Given the description of an element on the screen output the (x, y) to click on. 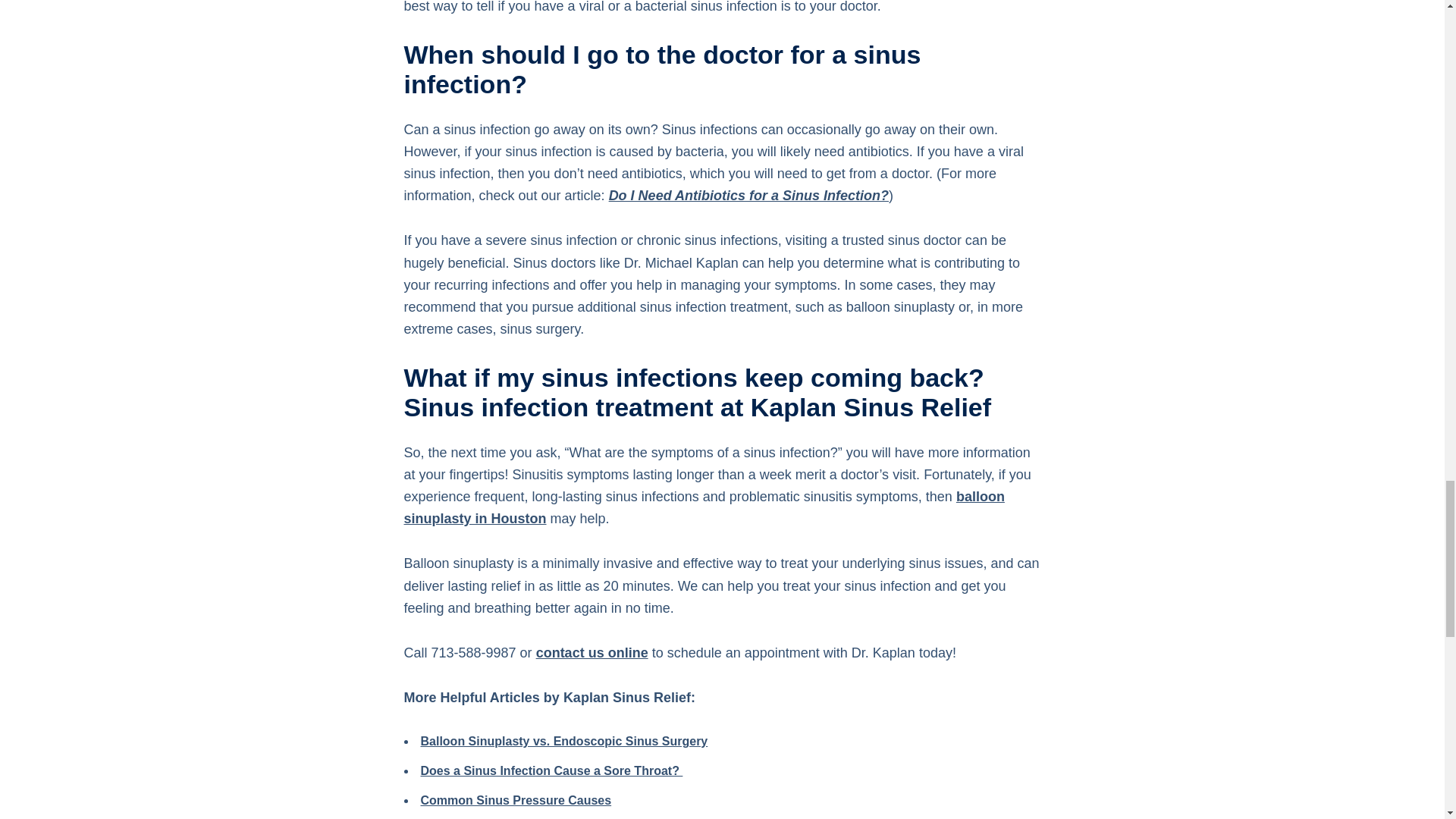
contact us online (591, 652)
Do I Need Antibiotics for a Sinus Infection? (748, 195)
balloon sinuplasty in Houston (703, 507)
Common Sinus Pressure Causes (515, 799)
Balloon Sinuplasty vs. Endoscopic Sinus Surgery (563, 740)
Does a Sinus Infection Cause a Sore Throat?  (551, 770)
